Given the description of an element on the screen output the (x, y) to click on. 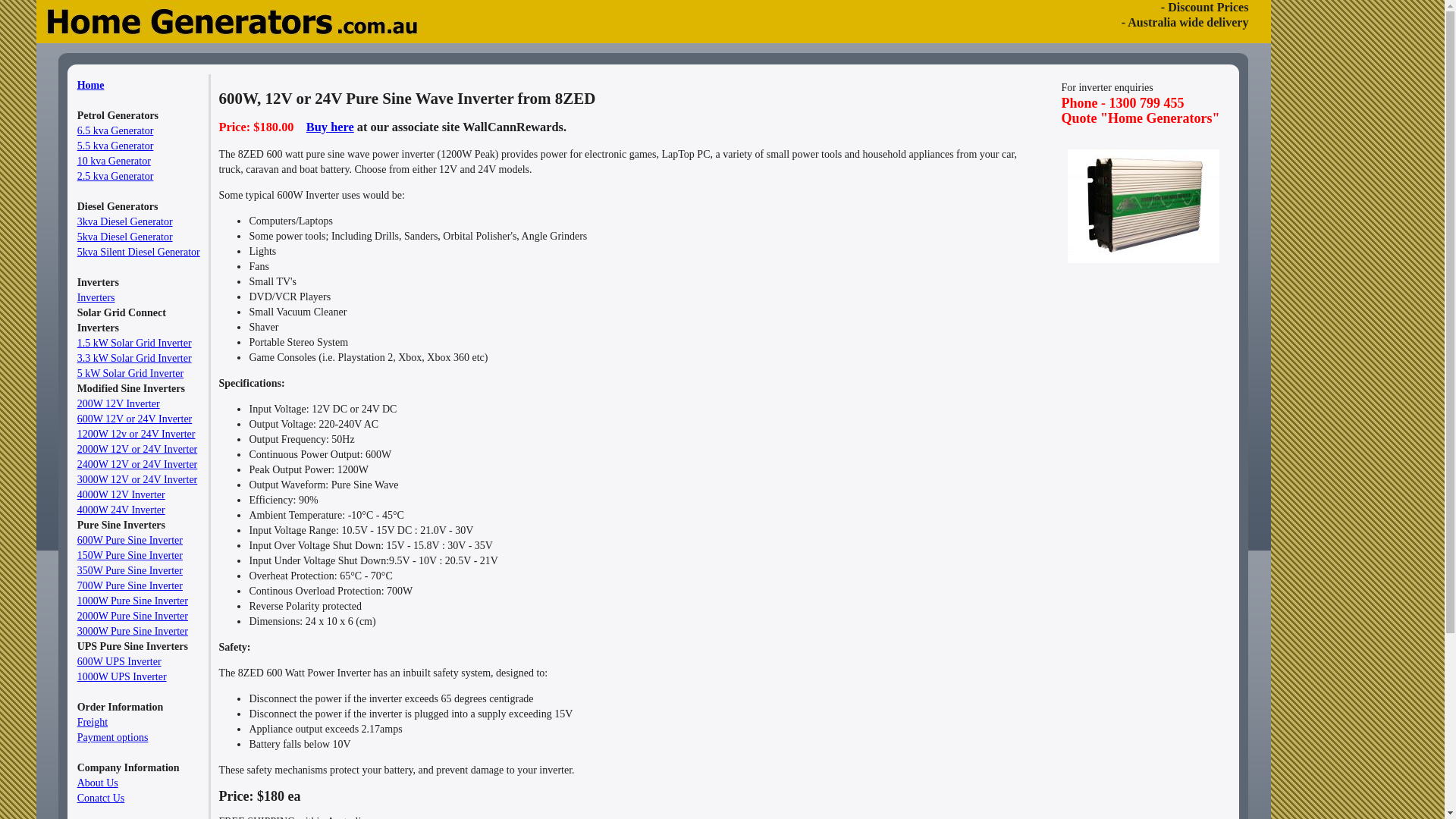
3000W 12V or 24V Inverter Element type: text (137, 479)
About Us Element type: text (97, 782)
Conatct Us Element type: text (101, 797)
Advertisement Element type: hover (1124, 360)
2400W 12V or 24V Inverter Element type: text (137, 464)
6.5 kva Generator Element type: text (115, 130)
1200W 12v or 24V Inverter Element type: text (136, 433)
3kva Diesel Generator Element type: text (124, 221)
2.5 kva Generator Element type: text (115, 176)
Home Element type: text (90, 85)
200W 12V Inverter Element type: text (118, 403)
350W Pure Sine Inverter Element type: text (129, 570)
150W Pure Sine Inverter Element type: text (129, 555)
5 kW Solar Grid Inverter Element type: text (130, 373)
2000W Pure Sine Inverter Element type: text (132, 615)
3000W Pure Sine Inverter Element type: text (132, 631)
600W 12V or 24V Inverter Element type: text (134, 418)
5.5 kva Generator Element type: text (115, 145)
Freight Element type: text (92, 722)
600W UPS Inverter Element type: text (119, 661)
3.3 kW Solar Grid Inverter Element type: text (134, 358)
1.5 kW Solar Grid Inverter Element type: text (134, 342)
2000W 12V or 24V Inverter Element type: text (137, 449)
5kva Diesel Generator Element type: text (124, 236)
4000W 12V Inverter Element type: text (121, 494)
5kva Silent Diesel Generator Element type: text (138, 251)
10 kva Generator Element type: text (113, 160)
600W Pure Sine Inverter Element type: text (129, 540)
Inverters Element type: text (96, 297)
1000W UPS Inverter Element type: text (121, 676)
4000W 24V Inverter Element type: text (121, 509)
Payment options Element type: text (112, 737)
700W Pure Sine Inverter Element type: text (129, 585)
Buy here Element type: text (330, 126)
1000W Pure Sine Inverter Element type: text (132, 600)
